Given the description of an element on the screen output the (x, y) to click on. 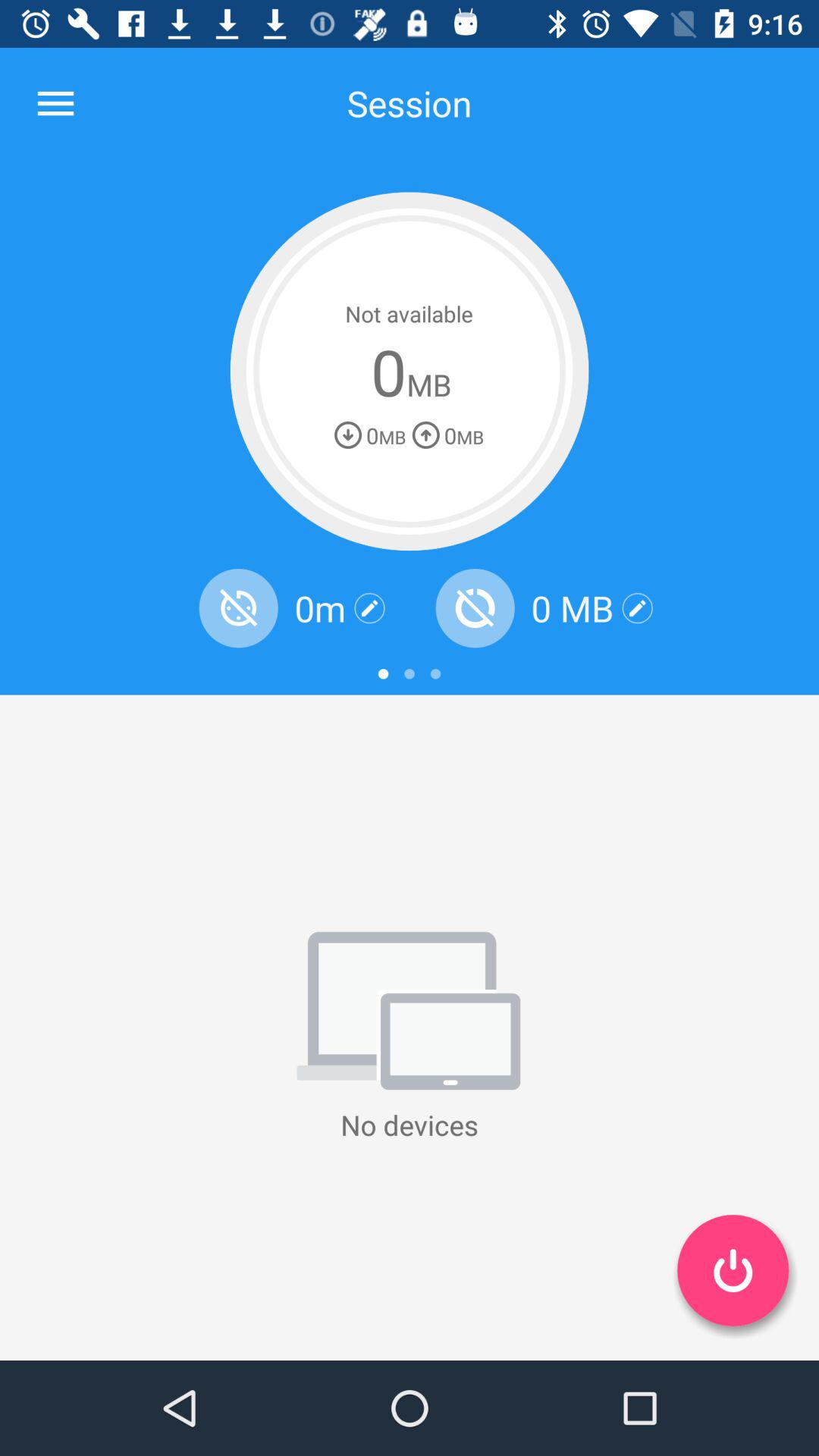
edit (369, 608)
